Given the description of an element on the screen output the (x, y) to click on. 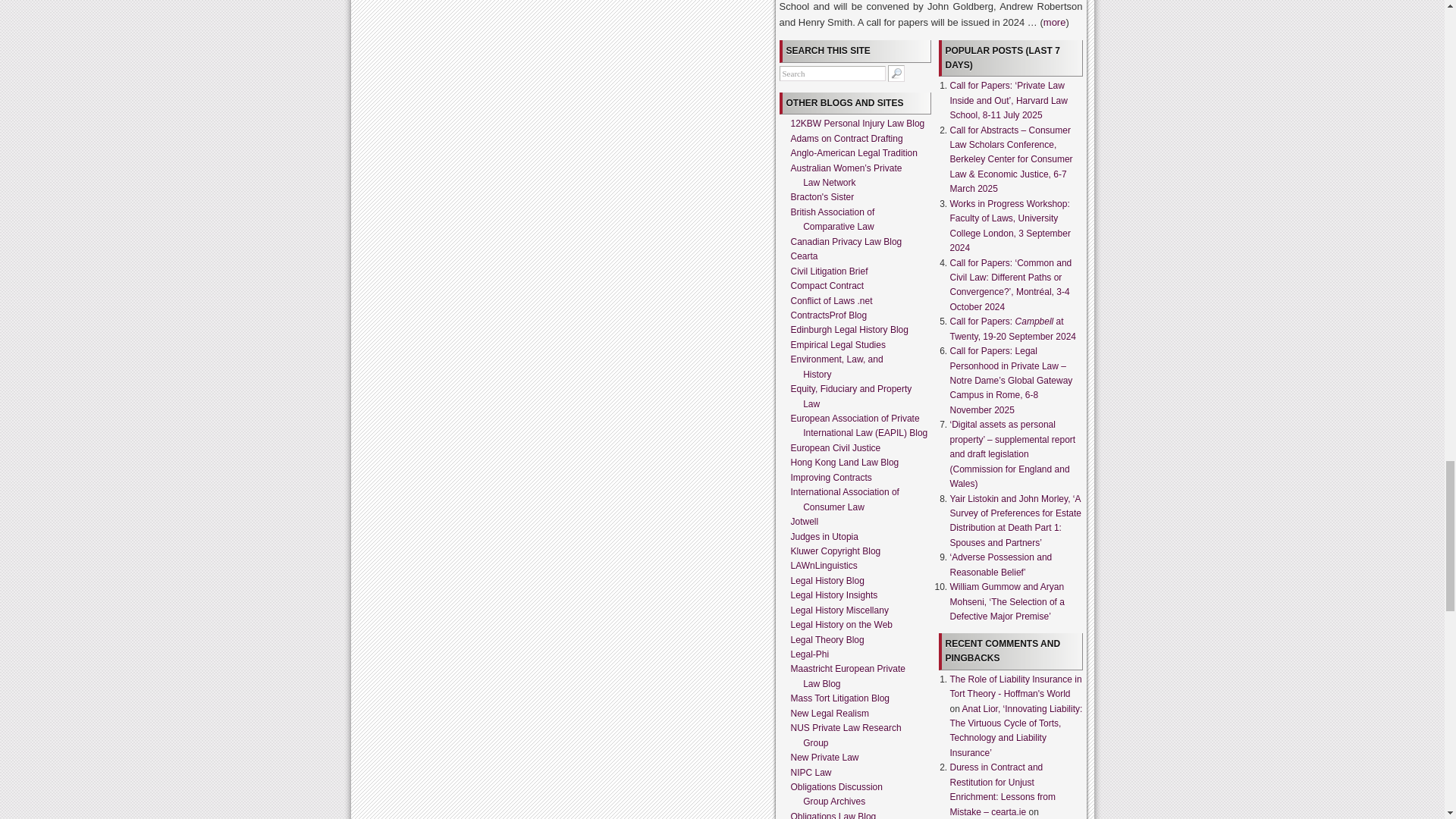
Search (831, 73)
Call for Papers: Campbell at Twenty, 19-20 September 2024 (1012, 328)
